Given the description of an element on the screen output the (x, y) to click on. 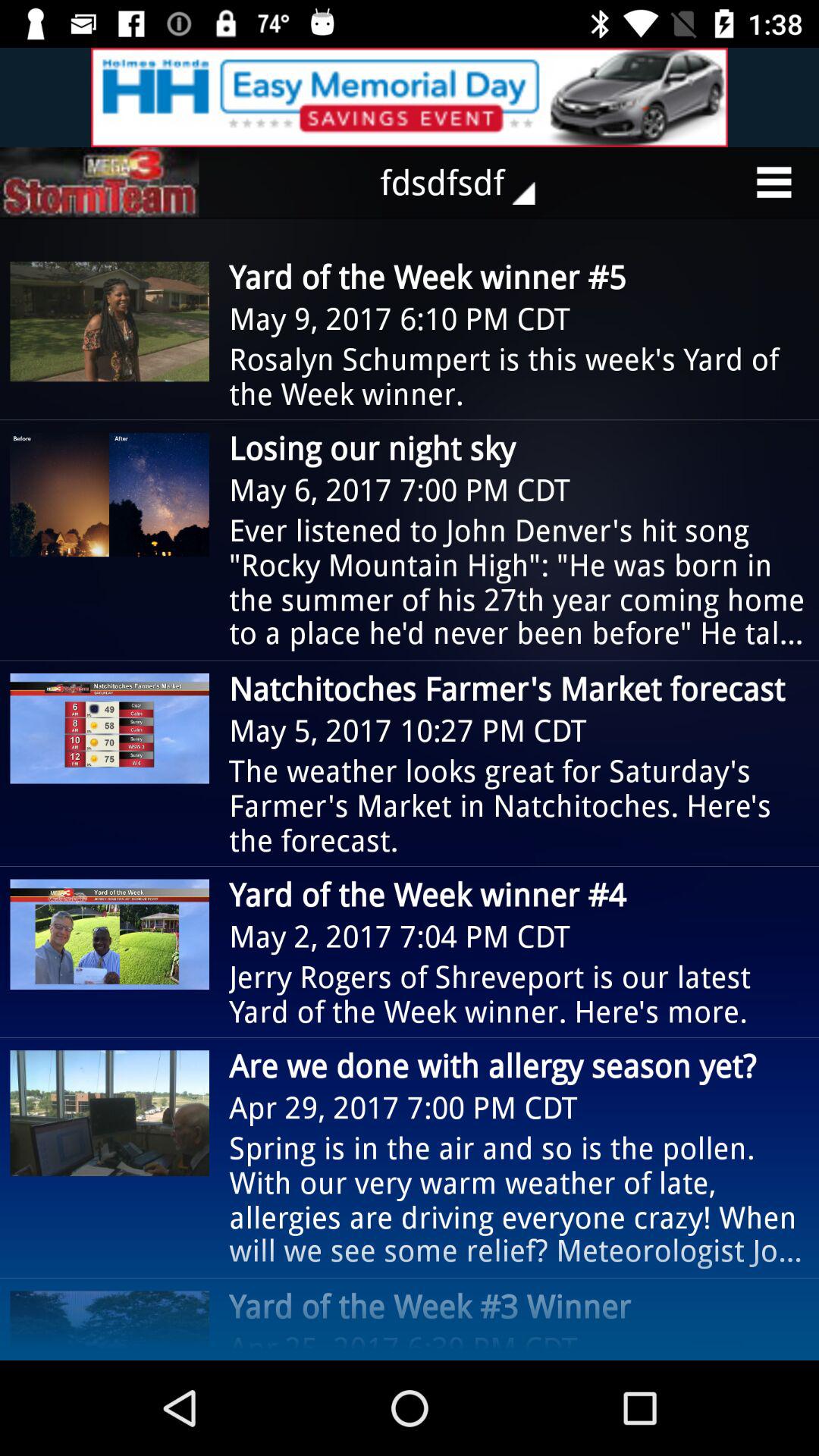
press the fdsdfsdf icon (468, 182)
